Given the description of an element on the screen output the (x, y) to click on. 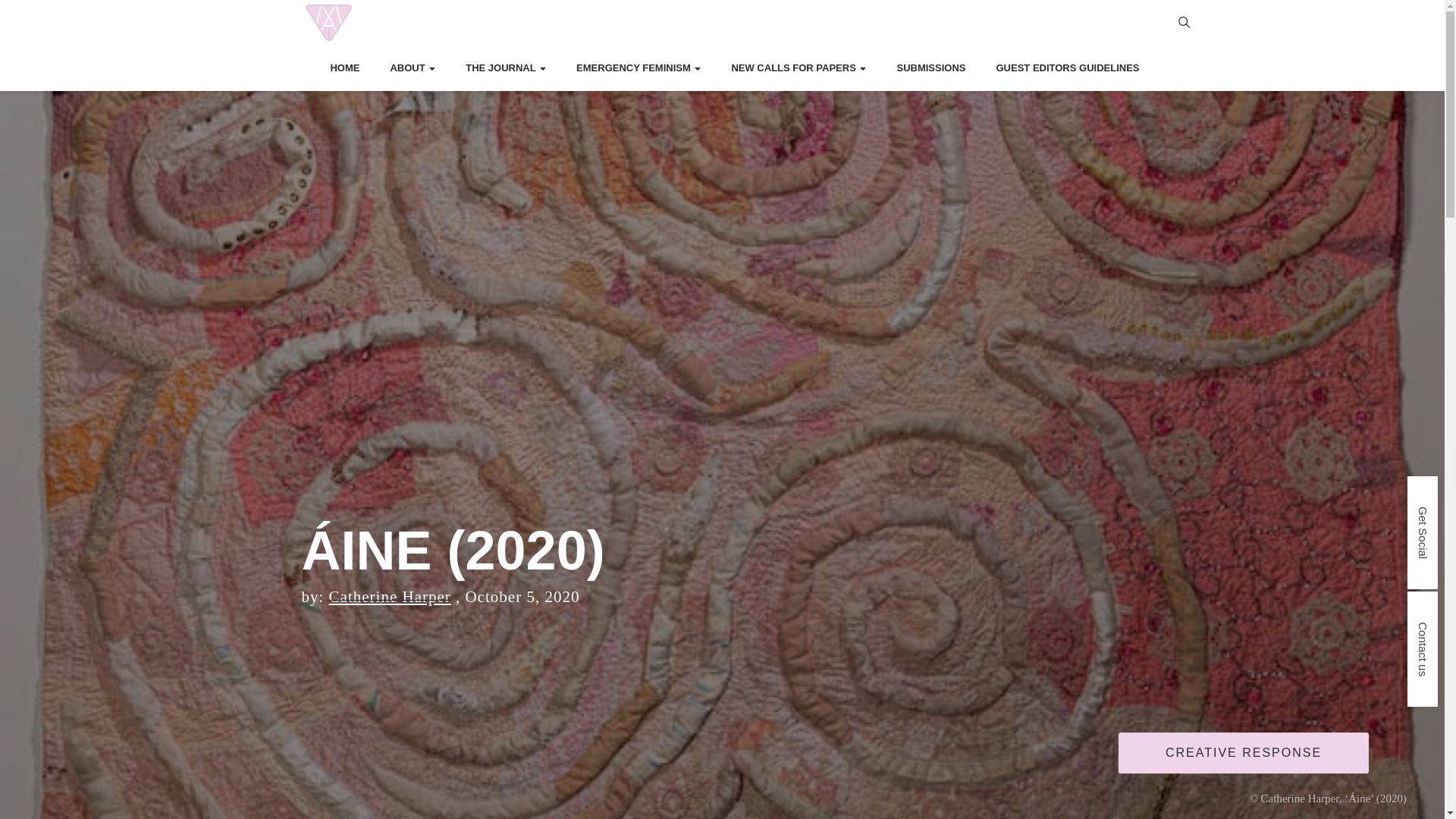
SUBMISSIONS (930, 67)
The Journal (505, 67)
GUEST EDITORS GUIDELINES (1066, 67)
About (412, 67)
ABOUT (412, 67)
THE JOURNAL (505, 67)
NEW CALLS FOR PAPERS (798, 67)
EMERGENCY FEMINISM (638, 67)
